Given the description of an element on the screen output the (x, y) to click on. 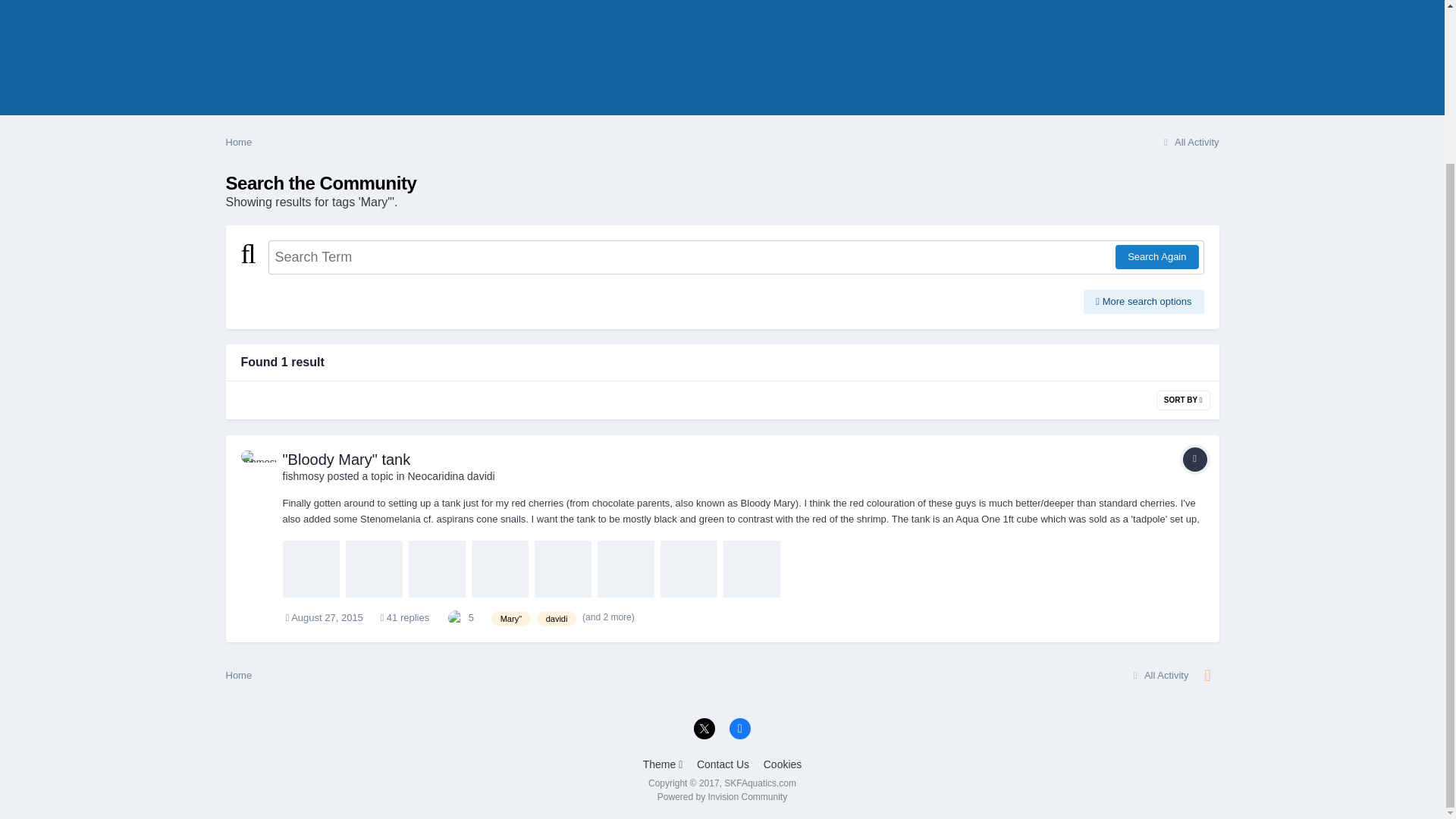
Available RSS feeds (1206, 675)
Like (455, 617)
Home (238, 674)
Find other content tagged with 'Mary"' (511, 618)
Topic (1194, 459)
Find other content tagged with 'davidi' (556, 618)
Home (238, 142)
Search Again (1156, 256)
Home (238, 142)
Invision Community (722, 796)
